Given the description of an element on the screen output the (x, y) to click on. 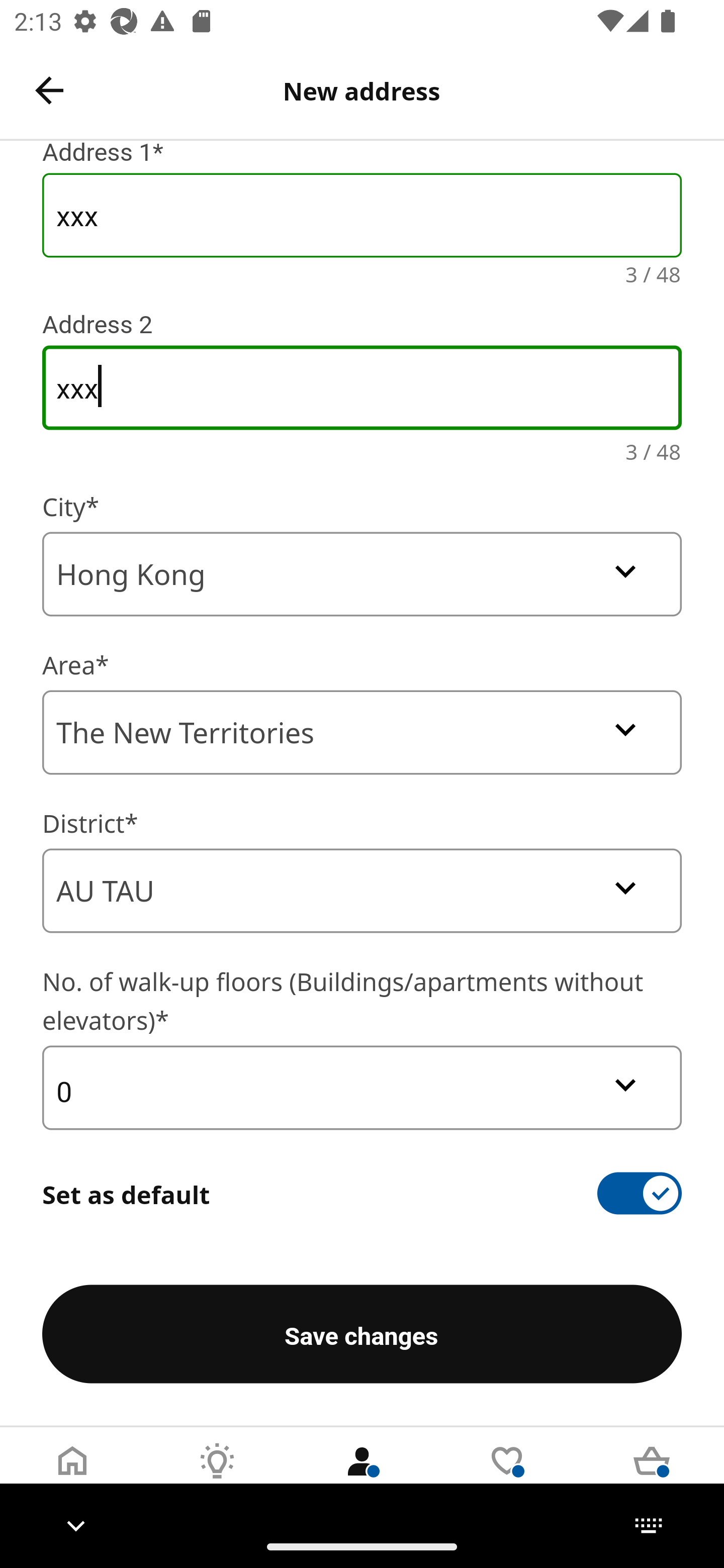
xxx (361, 215)
xxx (361, 387)
Hong Kong (361, 573)
The New Territories (361, 731)
AU TAU (361, 890)
0 (361, 1087)
Save changes (361, 1333)
Home
Tab 1 of 5 (72, 1476)
Inspirations
Tab 2 of 5 (216, 1476)
User
Tab 3 of 5 (361, 1476)
Wishlist
Tab 4 of 5 (506, 1476)
Cart
Tab 5 of 5 (651, 1476)
